Given the description of an element on the screen output the (x, y) to click on. 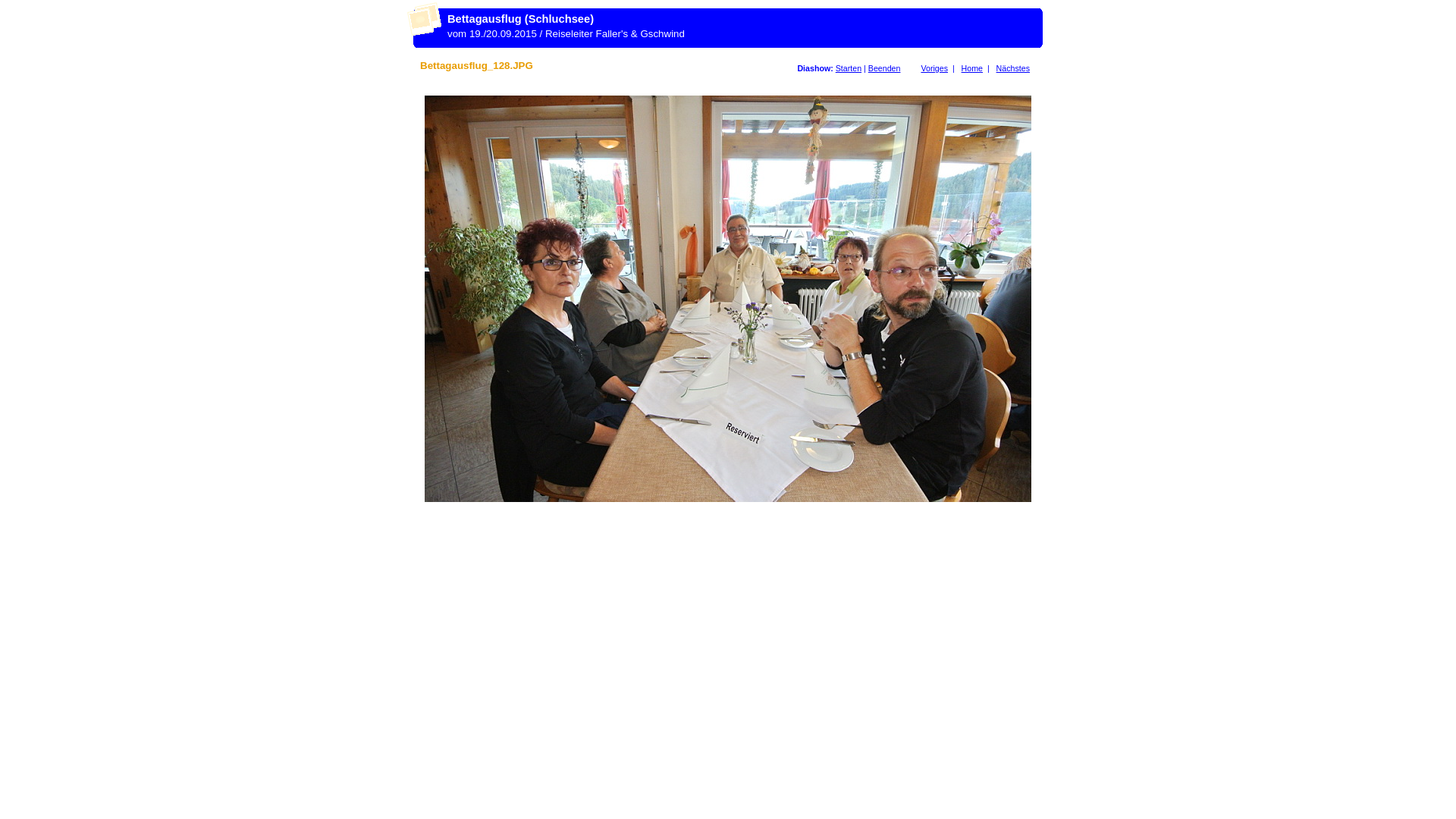
Voriges Element type: text (933, 67)
Starten Element type: text (848, 67)
Beenden Element type: text (884, 67)
Home Element type: text (971, 67)
